Given the description of an element on the screen output the (x, y) to click on. 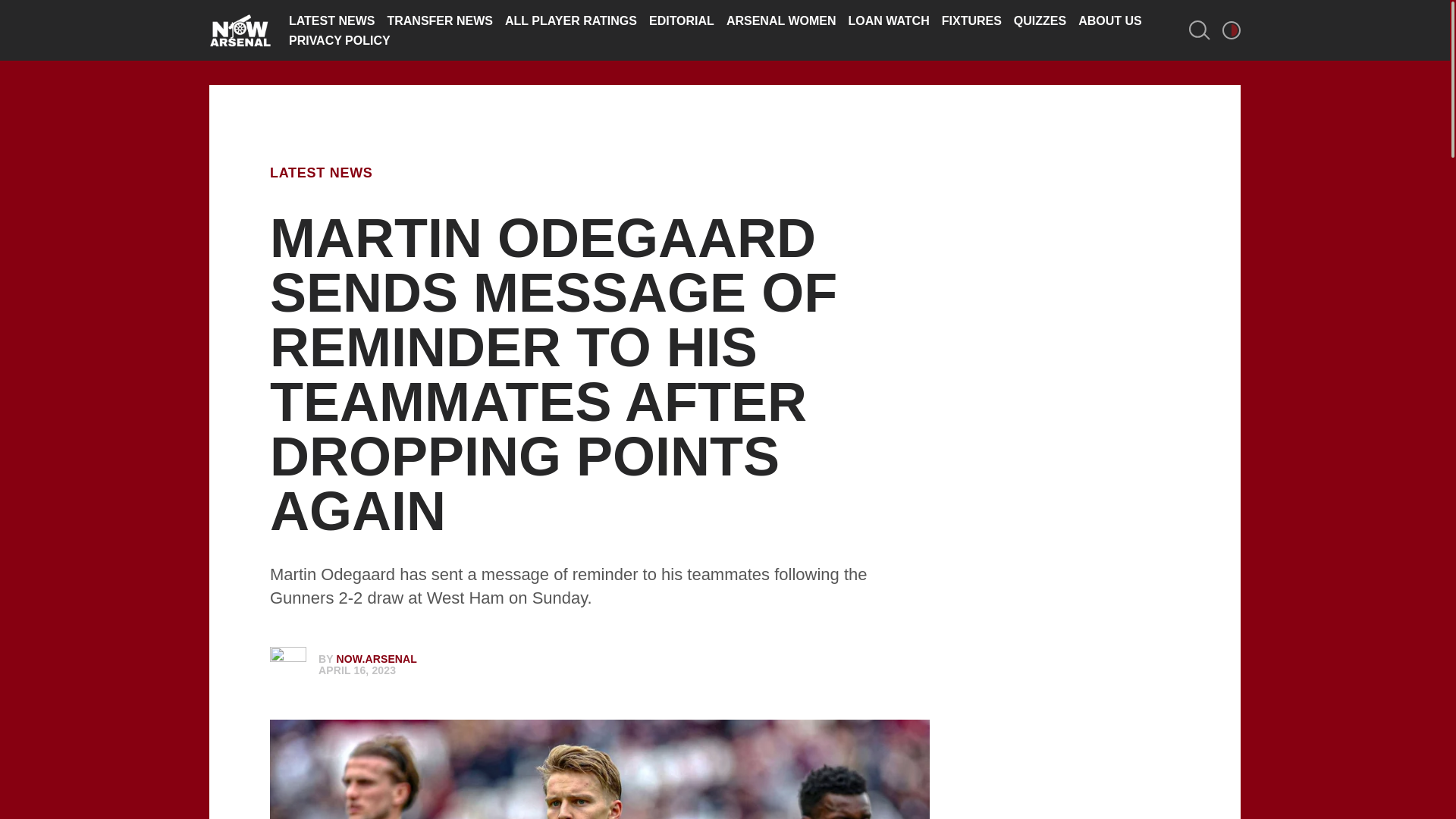
EDITORIAL (681, 20)
ABOUT US (1109, 20)
QUIZZES (1039, 20)
ARSENAL WOMEN (780, 20)
LATEST NEWS (320, 172)
TRANSFER NEWS (440, 20)
FIXTURES (971, 20)
PRIVACY POLICY (339, 40)
ALL PLAYER RATINGS (571, 20)
LOAN WATCH (887, 20)
